Given the description of an element on the screen output the (x, y) to click on. 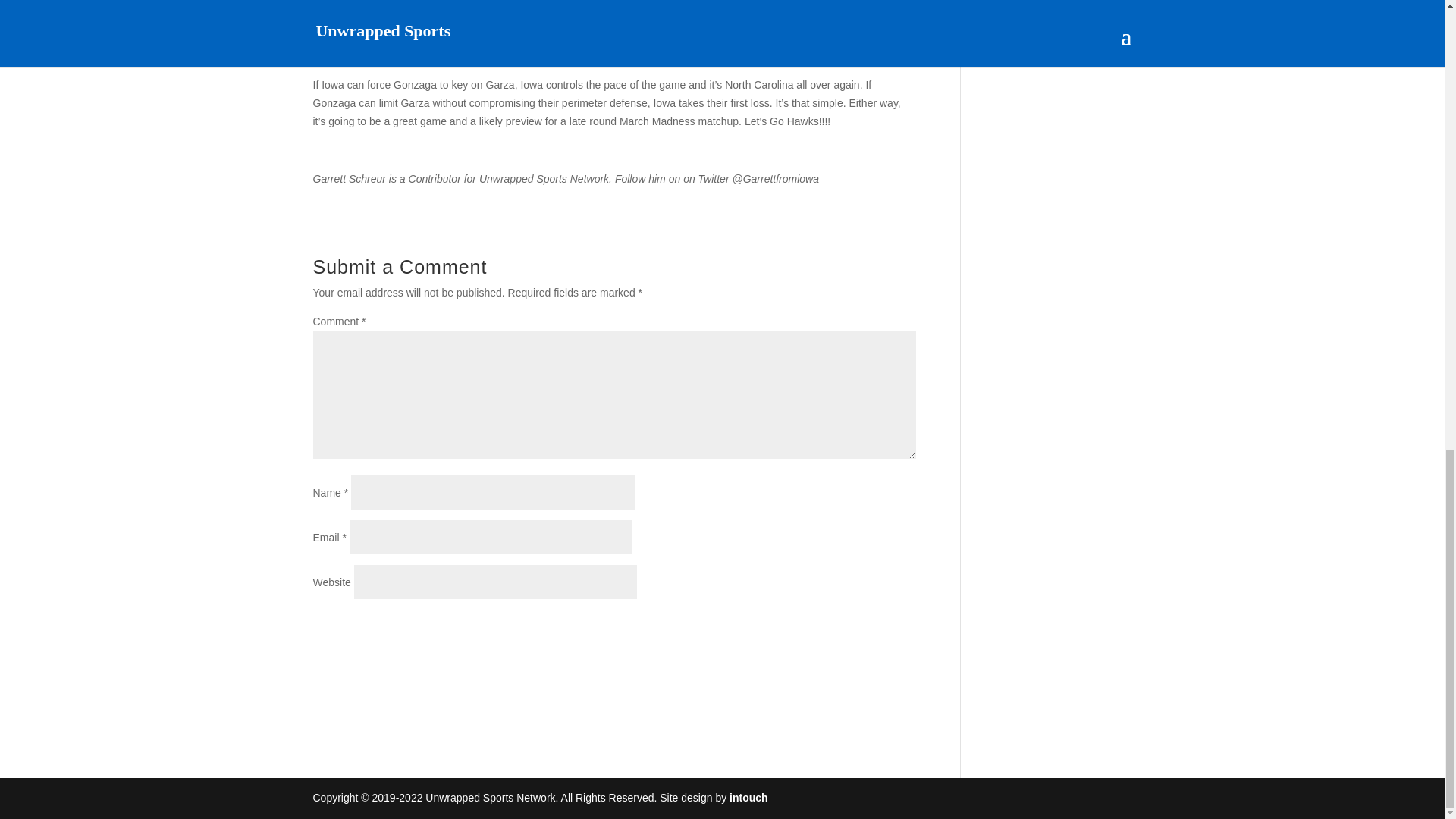
intouch (748, 797)
Submit Comment (840, 628)
Submit Comment (840, 628)
